Given the description of an element on the screen output the (x, y) to click on. 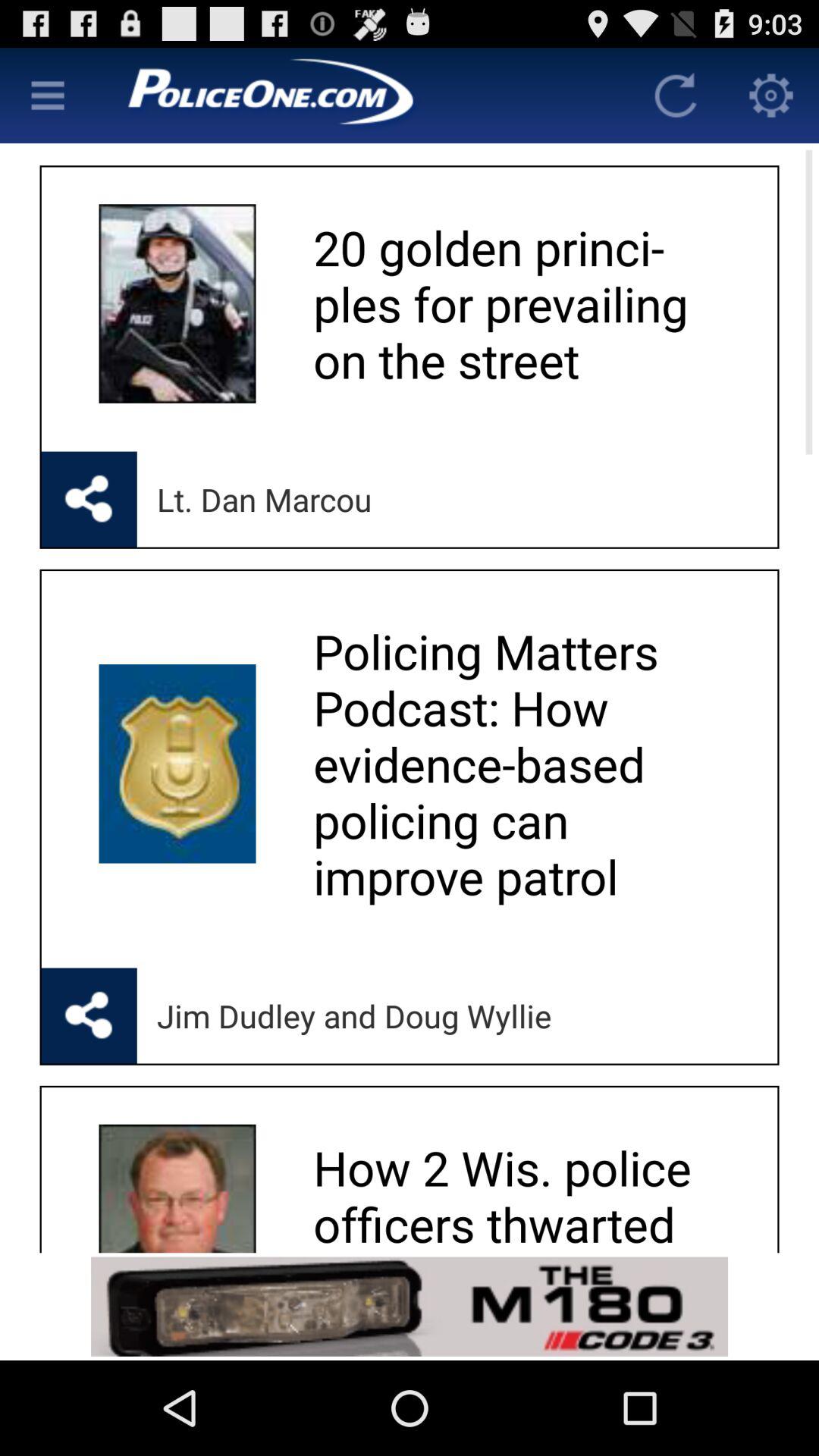
menu button (47, 95)
